Given the description of an element on the screen output the (x, y) to click on. 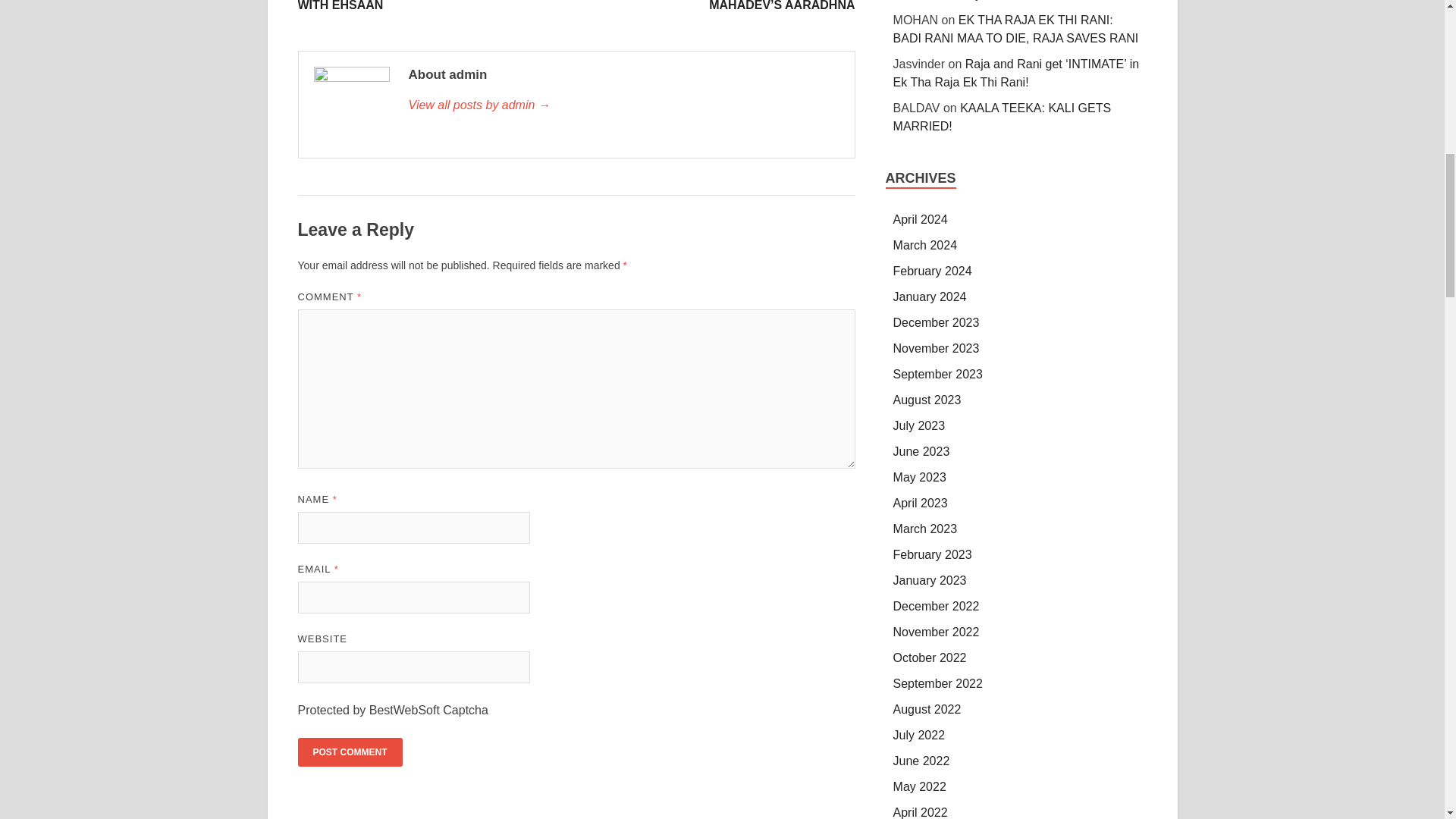
admin (622, 105)
Post Comment (349, 751)
